Given the description of an element on the screen output the (x, y) to click on. 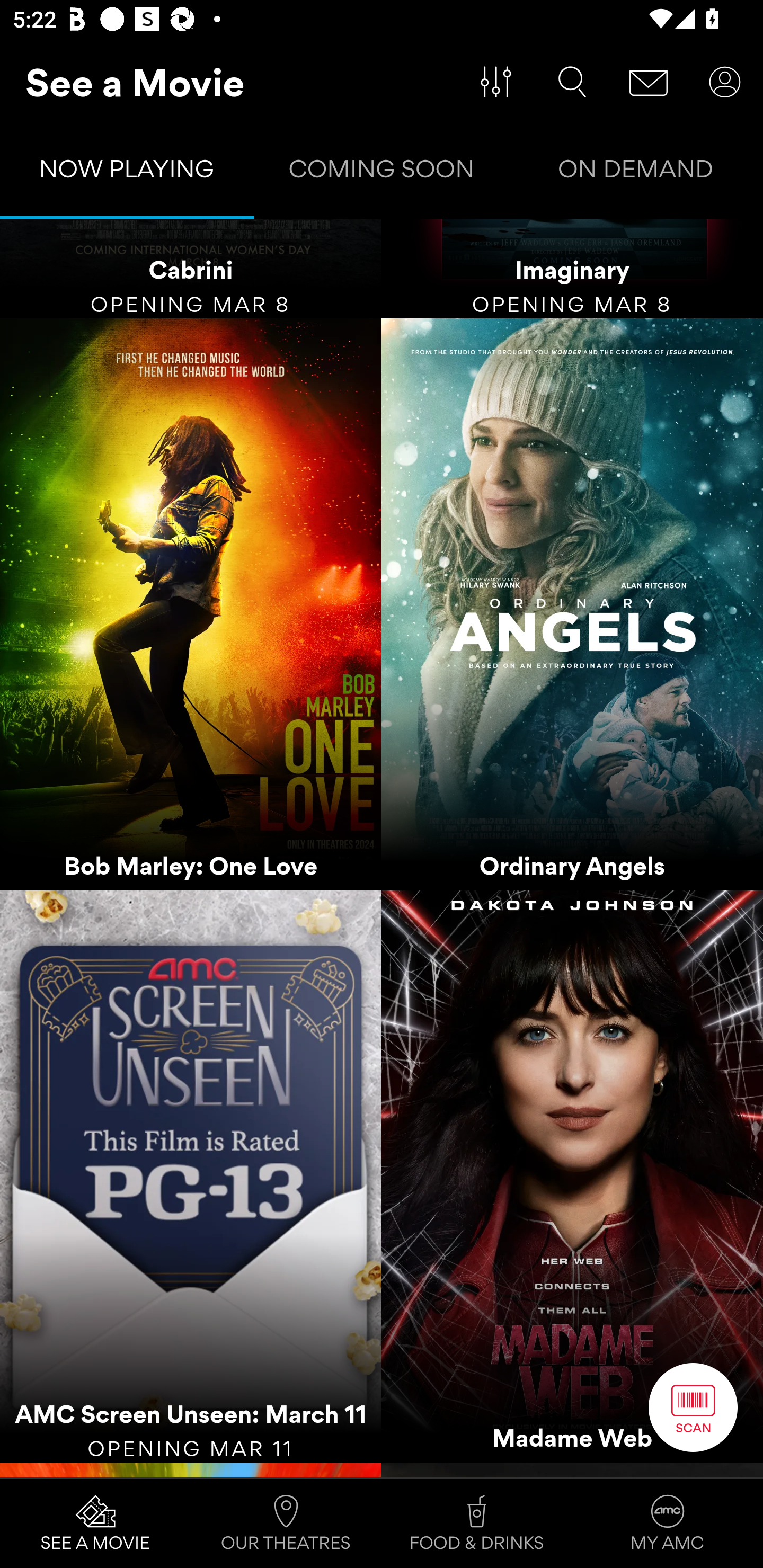
Filter Movies (495, 82)
Search (572, 82)
Message Center (648, 82)
User Account (724, 82)
NOW PLAYING
Tab 1 of 3 (127, 173)
COMING SOON
Tab 2 of 3 (381, 173)
ON DEMAND
Tab 3 of 3 (635, 173)
Cabrini
OPENING MAR 8 (190, 268)
Imaginary
OPENING MAR 8 (572, 268)
Bob Marley: One Love (190, 604)
Ordinary Angels (572, 604)
AMC Screen Unseen: March 11
OPENING MAR 11 (190, 1176)
Madame Web (572, 1176)
Scan Button (692, 1406)
SEE A MOVIE
Tab 1 of 4 (95, 1523)
OUR THEATRES
Tab 2 of 4 (285, 1523)
FOOD & DRINKS
Tab 3 of 4 (476, 1523)
MY AMC
Tab 4 of 4 (667, 1523)
